Given the description of an element on the screen output the (x, y) to click on. 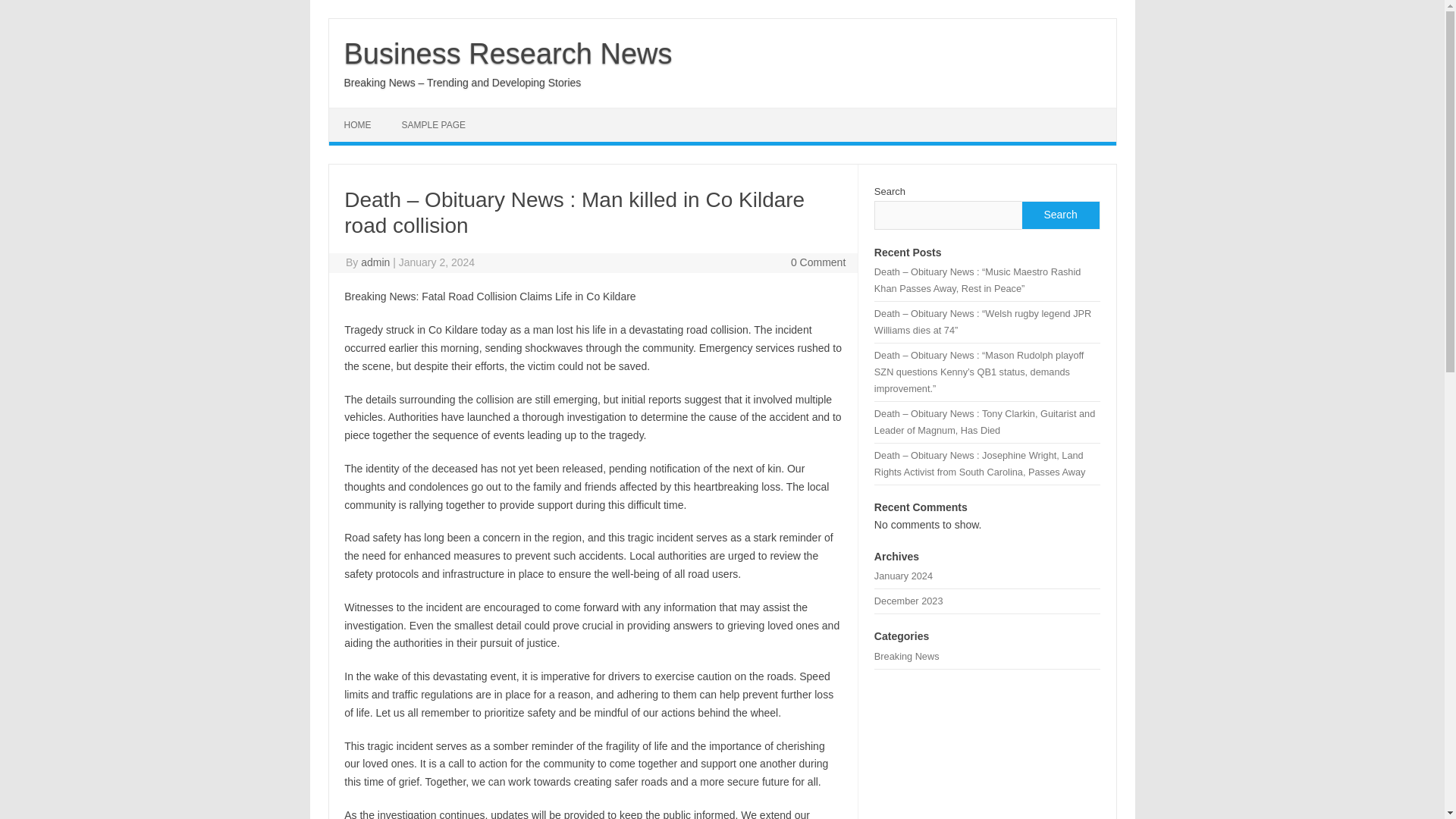
Posts by admin (375, 262)
admin (375, 262)
January 2024 (904, 575)
Breaking News (907, 655)
Business Research News (507, 53)
Business Research News (507, 53)
Search (1059, 215)
HOME (358, 124)
